Given the description of an element on the screen output the (x, y) to click on. 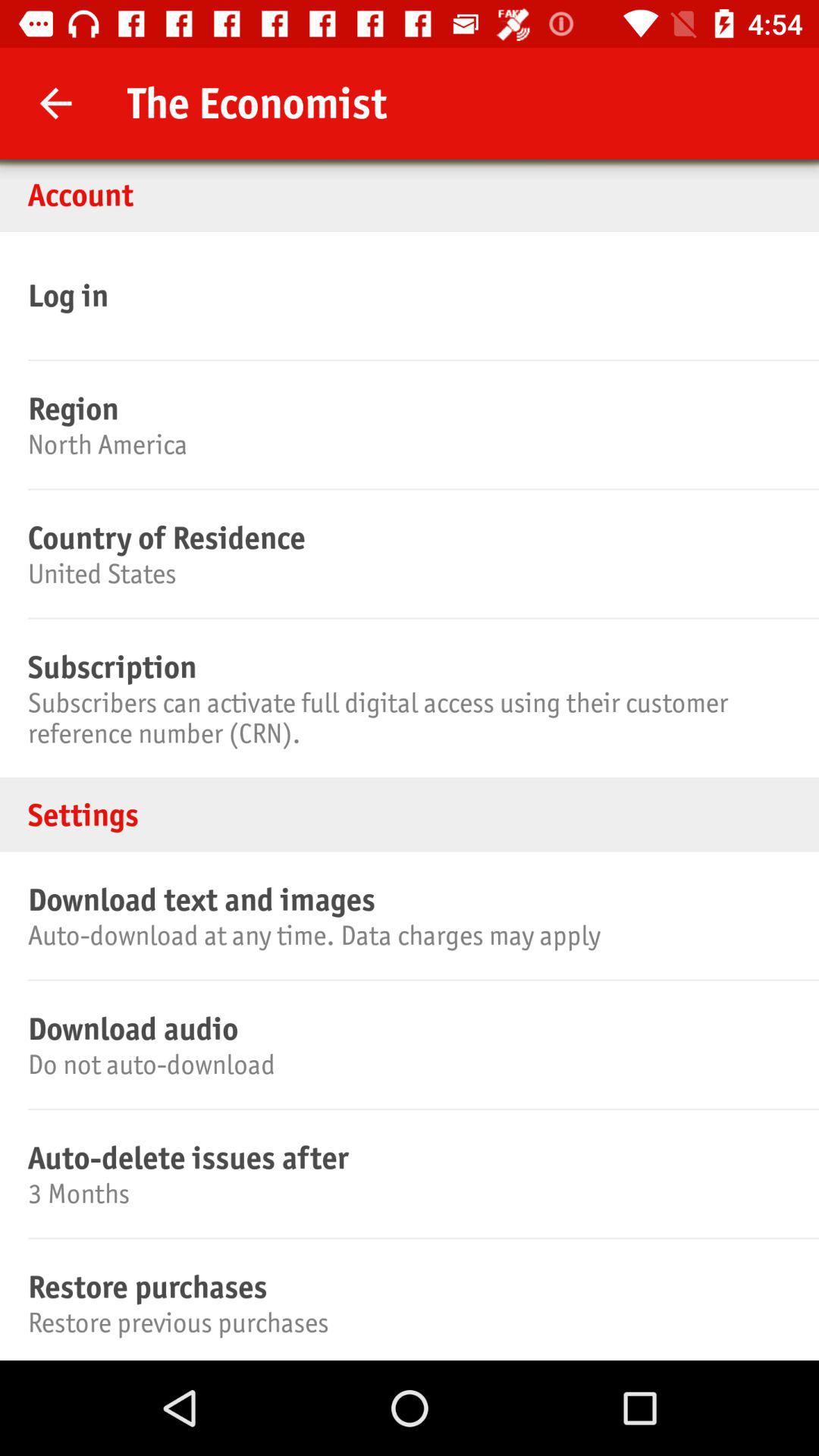
tap the icon below download audio item (407, 1064)
